Given the description of an element on the screen output the (x, y) to click on. 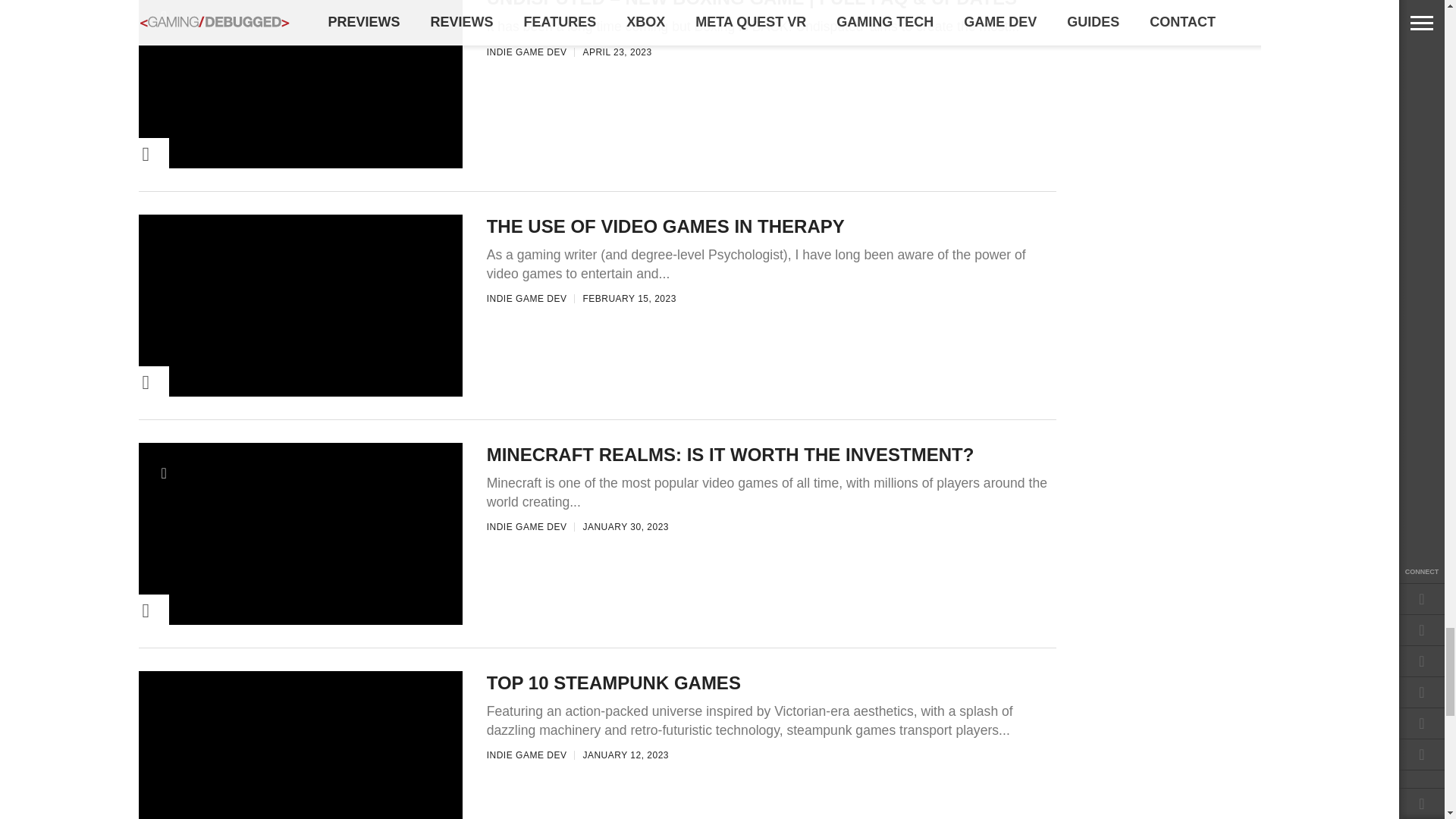
Minecraft Realms: Is It Worth the Investment? (299, 632)
The Use of Video Games in Therapy (299, 404)
Pin This Post (122, 382)
Pin This Post (122, 154)
